Given the description of an element on the screen output the (x, y) to click on. 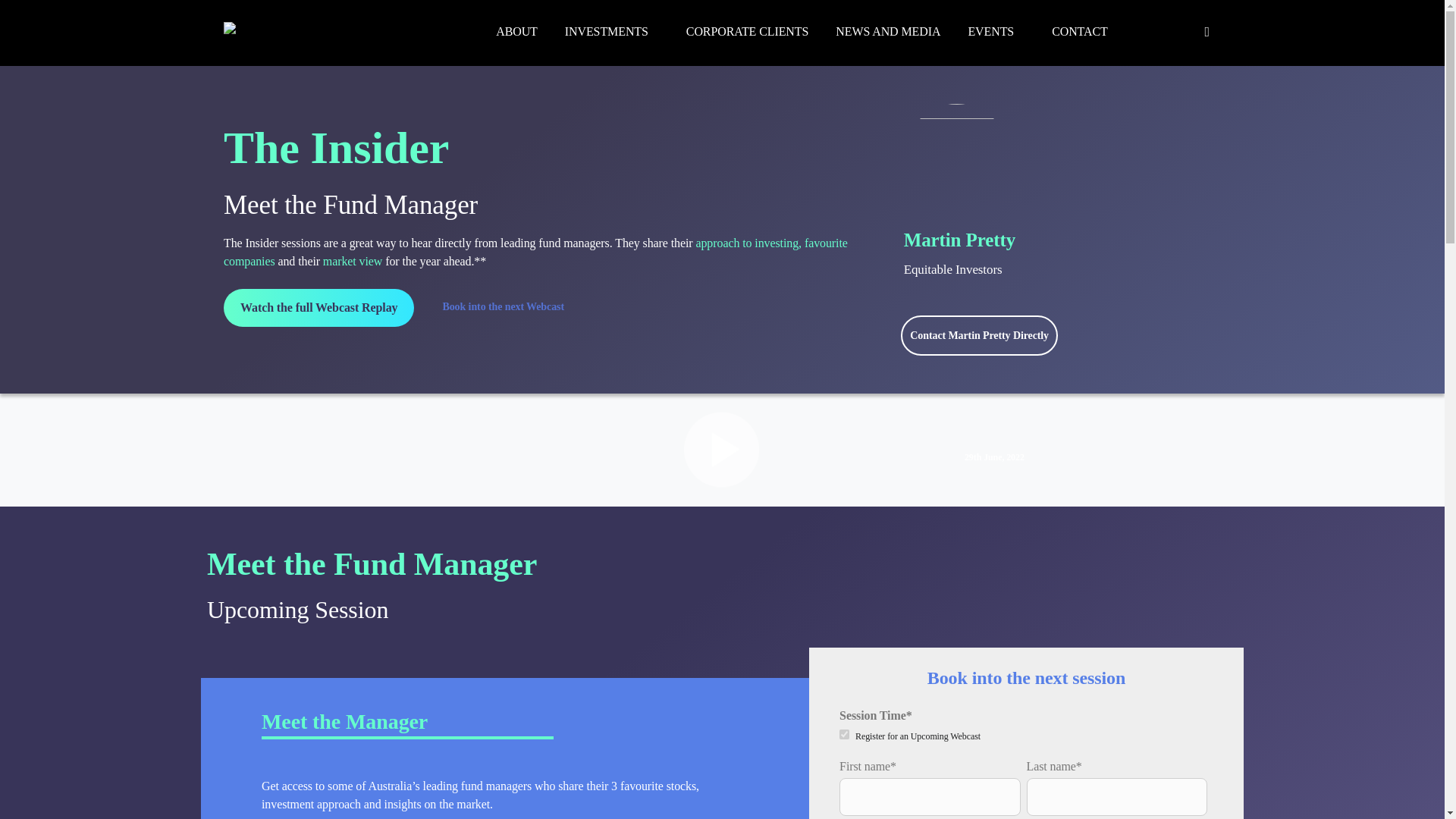
CONTACT (1079, 32)
CORPORATE CLIENTS (746, 32)
Corporate Clients (746, 32)
About (516, 32)
Events (995, 32)
ABOUT (516, 32)
Investments (612, 32)
EVENTS (995, 32)
approach to investing, (748, 242)
Search (1207, 32)
